Given the description of an element on the screen output the (x, y) to click on. 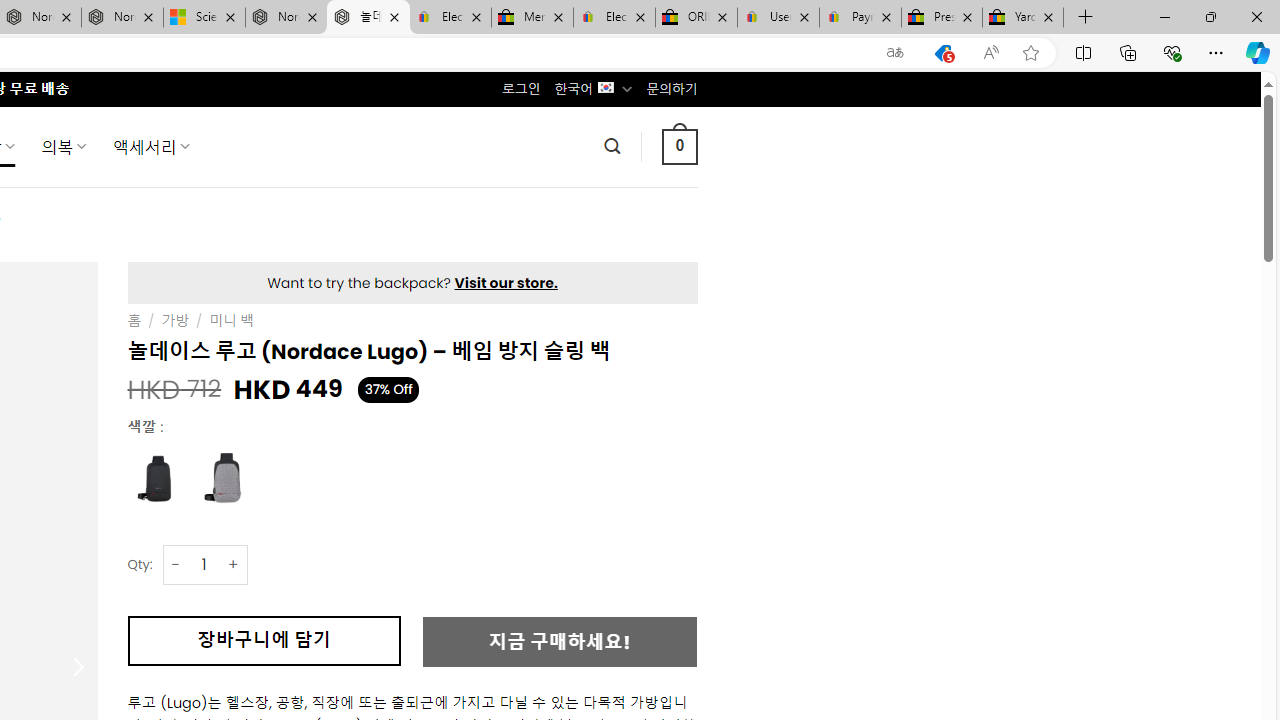
User Privacy Notice | eBay (778, 17)
